Given the description of an element on the screen output the (x, y) to click on. 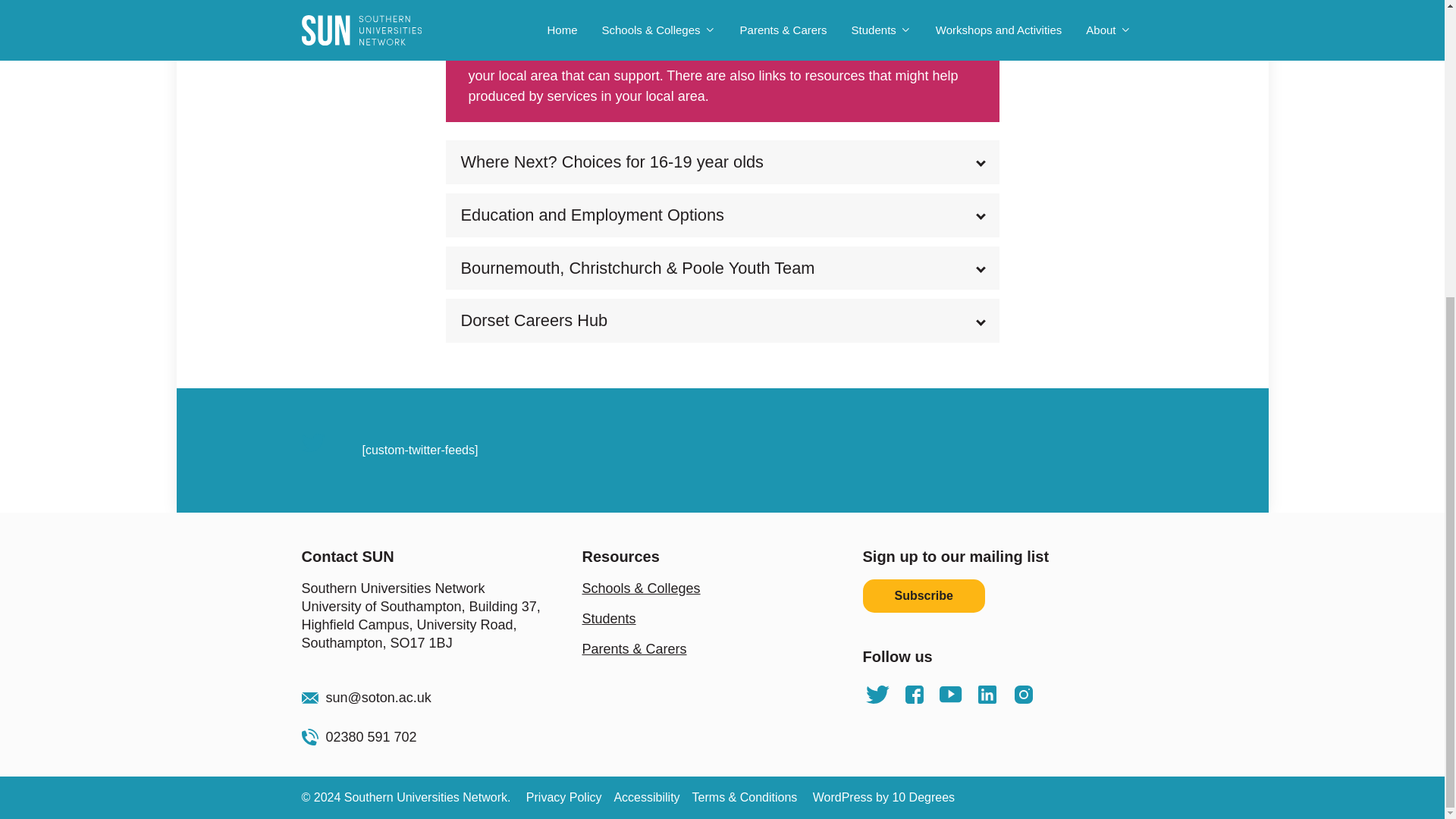
youtube (951, 694)
02380 591 702 (441, 737)
Where Next? Choices for 16-19 year olds (721, 162)
Education and Employment Options (721, 215)
Dorset Careers Hub (721, 320)
linkedin (987, 694)
Students (609, 618)
twitter (878, 694)
Subscribe (924, 595)
facebook (914, 694)
